Given the description of an element on the screen output the (x, y) to click on. 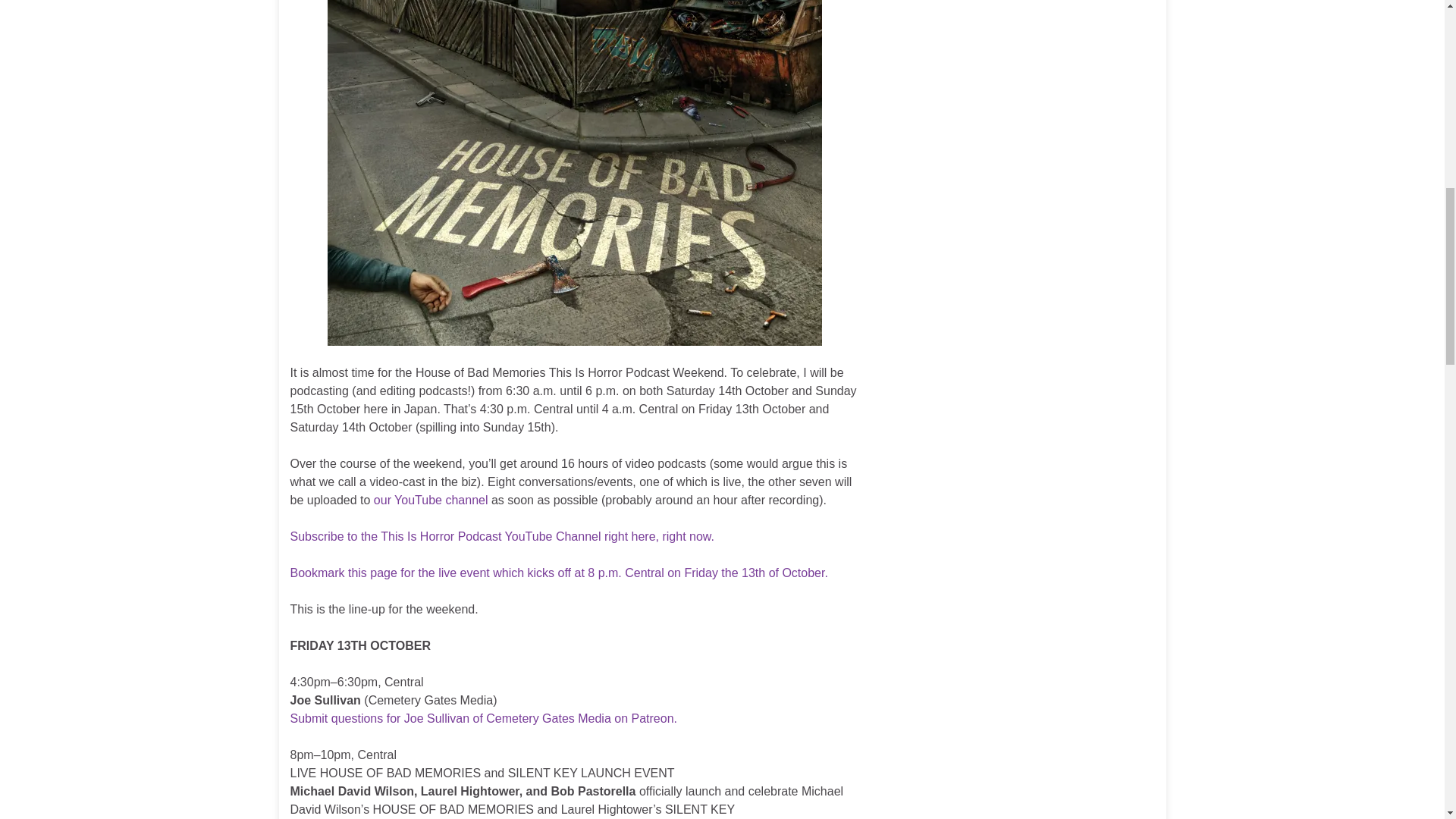
our YouTube channel (430, 499)
